Given the description of an element on the screen output the (x, y) to click on. 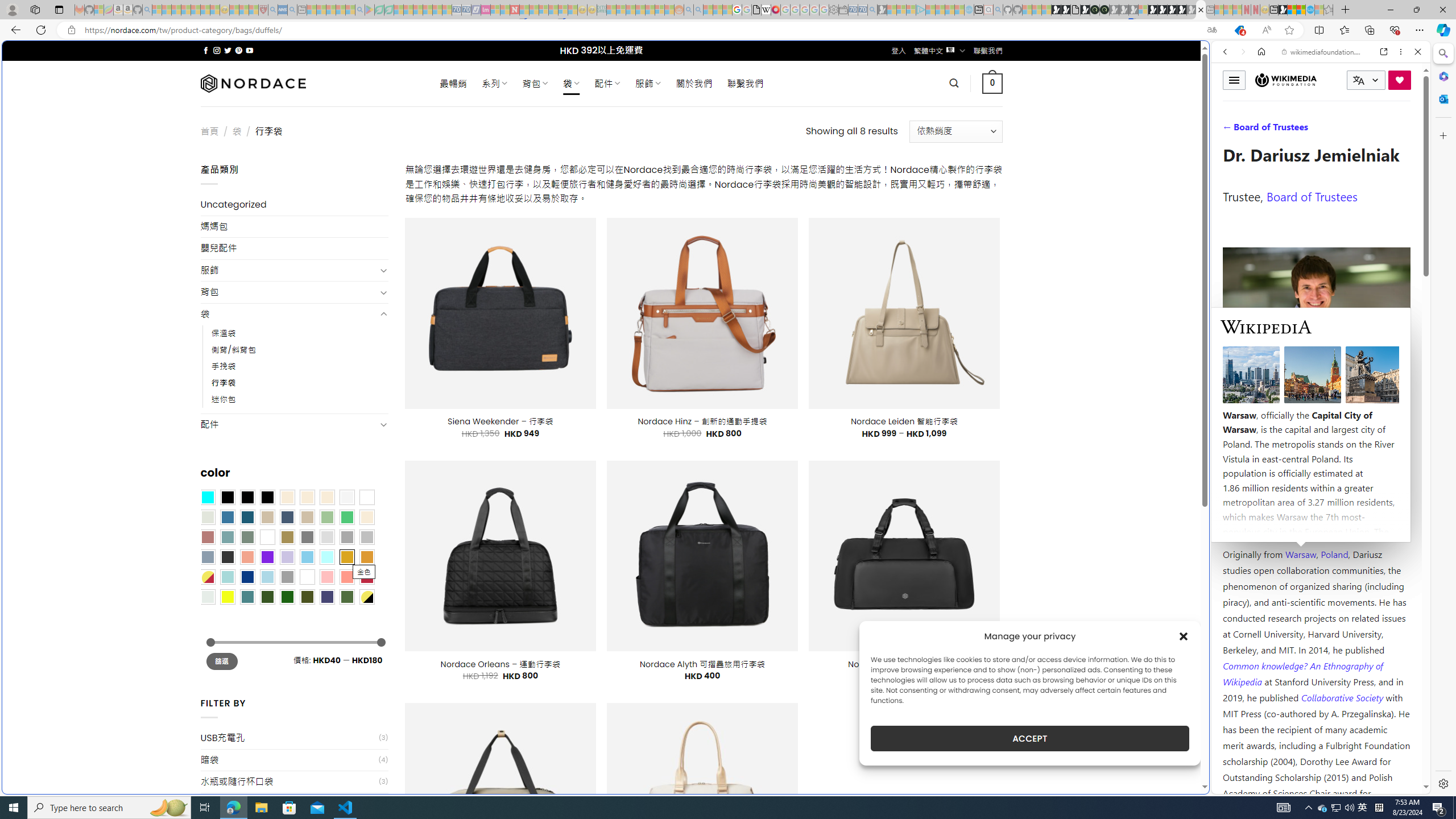
Warsaw (1300, 554)
Follow on Pinterest (237, 50)
Pets - MSN - Sleeping (340, 9)
MediaWiki (774, 9)
Search Filter, Search Tools (1350, 129)
